Given the description of an element on the screen output the (x, y) to click on. 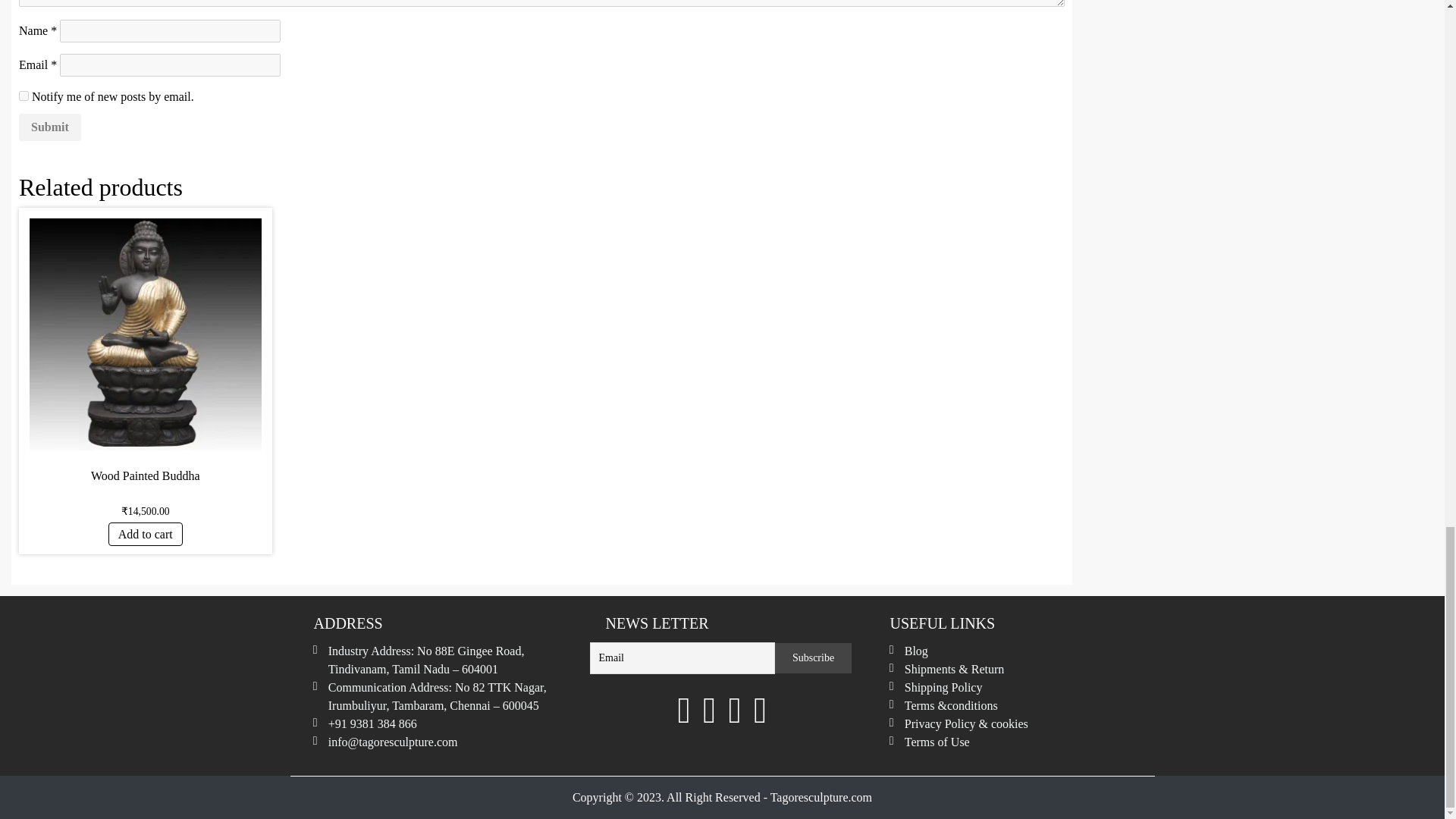
Add to cart (145, 534)
subscribe (23, 95)
Submit (49, 126)
Submit (49, 126)
Subscribe (812, 657)
